Given the description of an element on the screen output the (x, y) to click on. 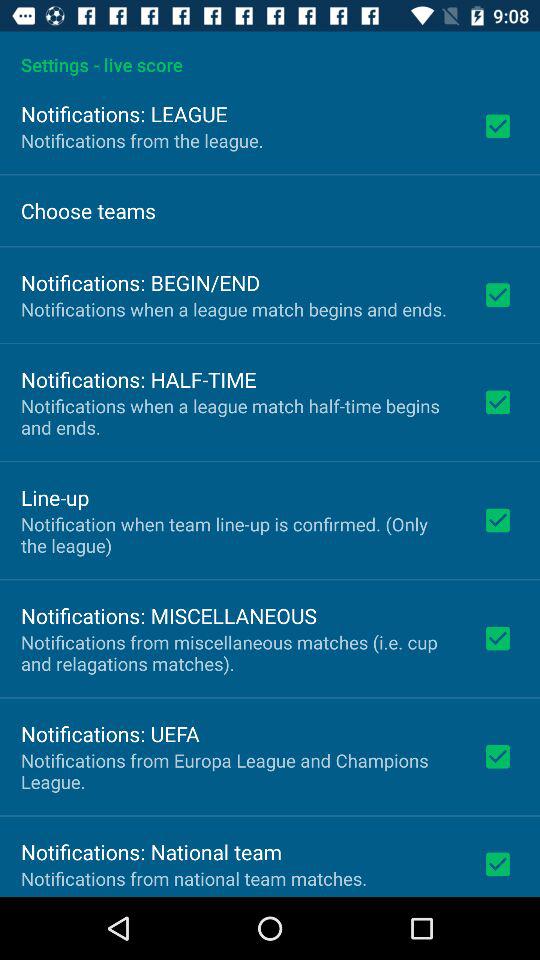
select icon below the notifications from the icon (88, 210)
